Given the description of an element on the screen output the (x, y) to click on. 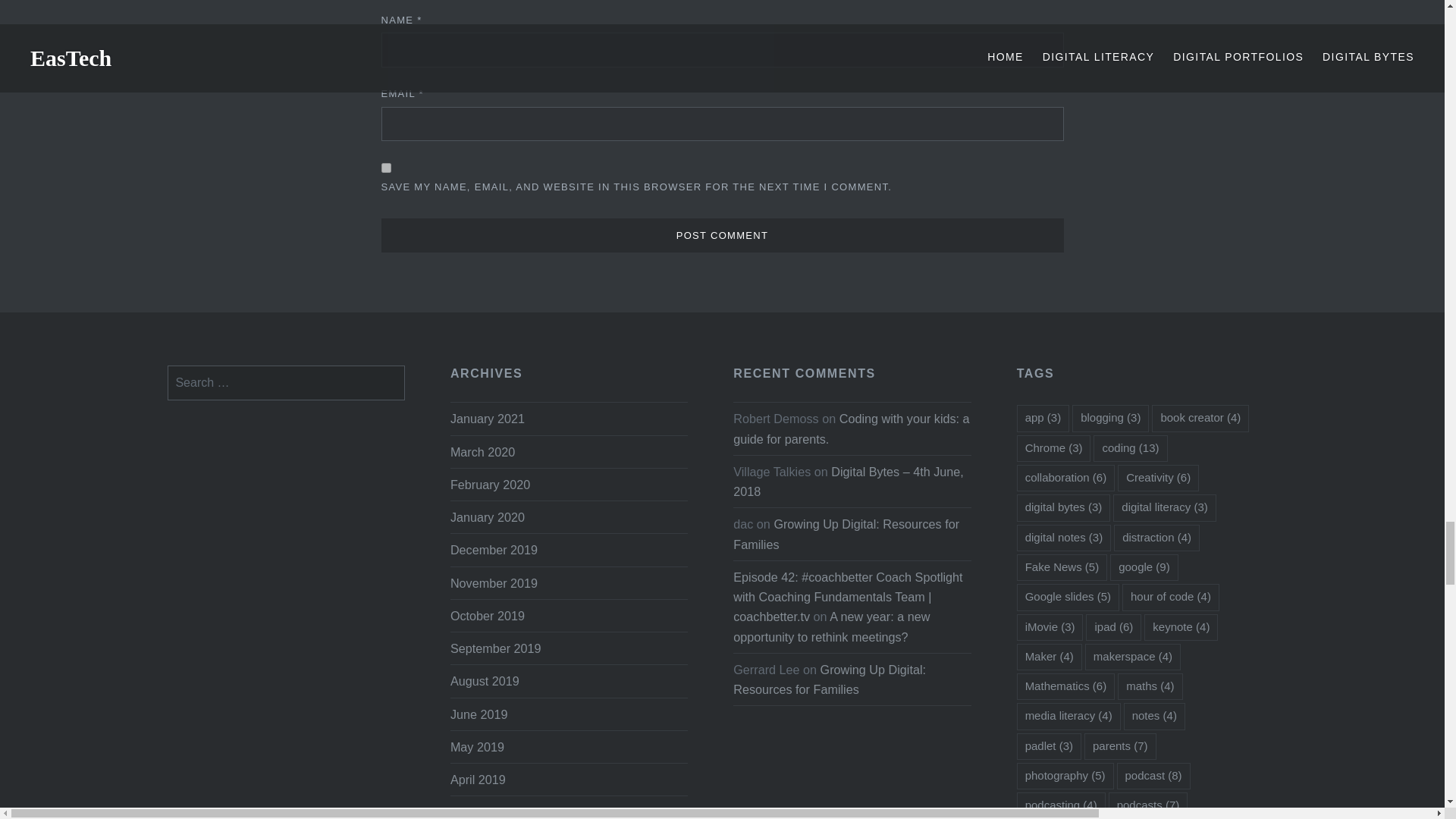
Post Comment (721, 235)
yes (385, 167)
